Given the description of an element on the screen output the (x, y) to click on. 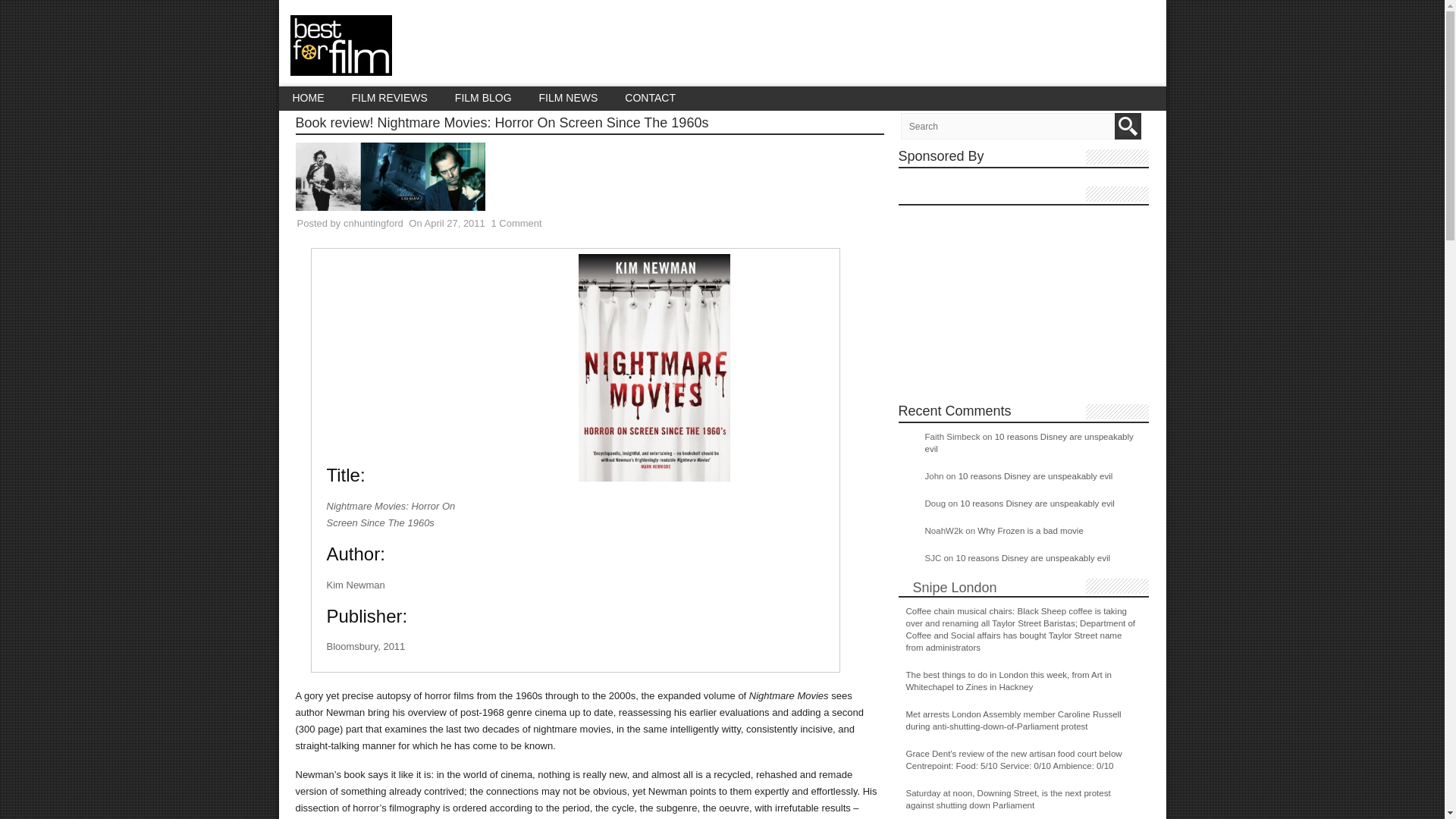
FILM REVIEWS (389, 97)
FILM BLOG (483, 97)
Posts by cnhuntingford (373, 223)
Search (1128, 126)
CONTACT (649, 97)
Best For Film (340, 67)
1 Comment (515, 223)
cnhuntingford (373, 223)
HOME (308, 97)
FILM NEWS (568, 97)
